Given the description of an element on the screen output the (x, y) to click on. 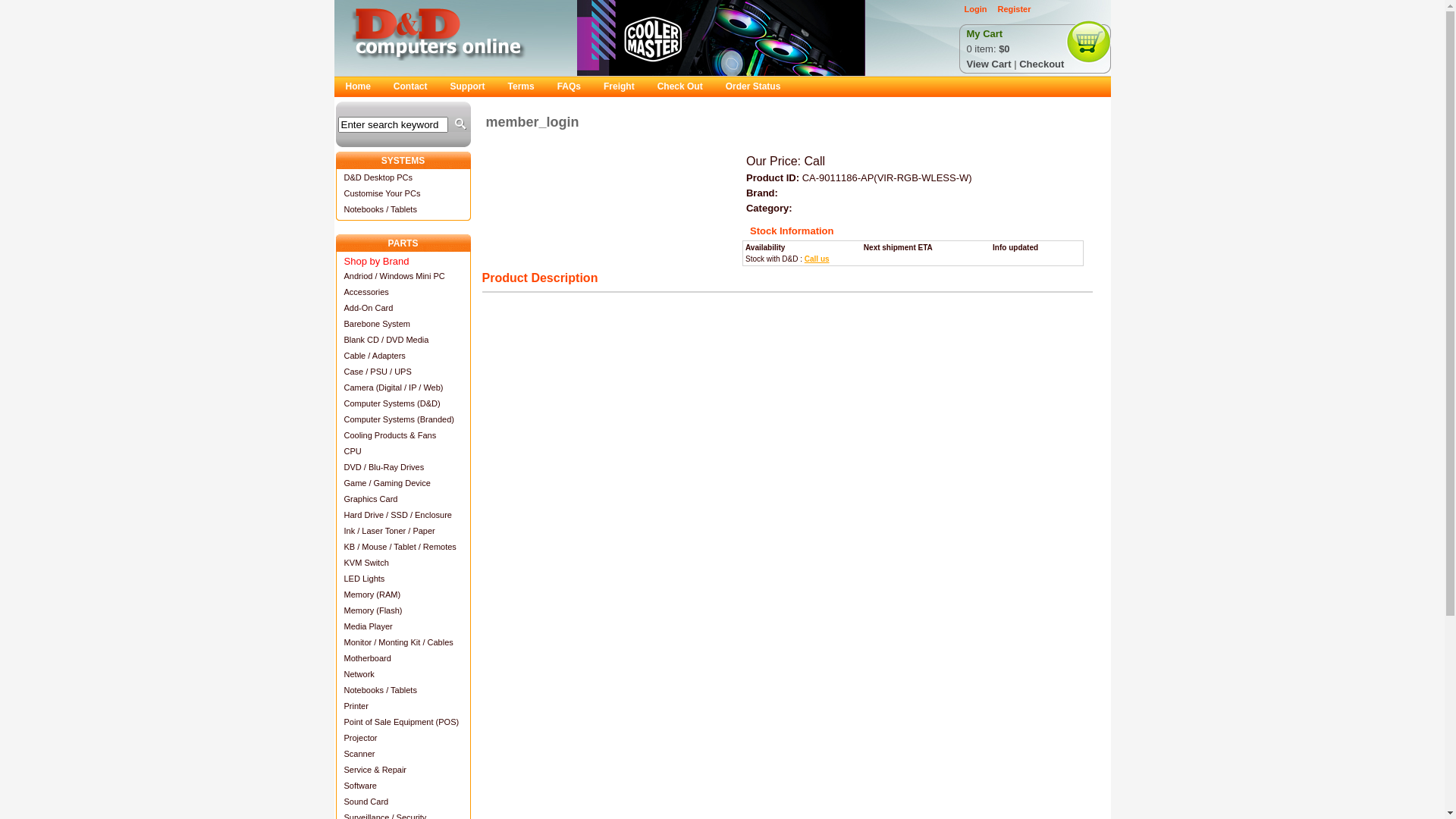
My Cart Element type: text (984, 33)
Customise Your PCs Element type: text (402, 192)
Case / PSU / UPS Element type: text (402, 371)
DVD / Blu-Ray Drives Element type: text (402, 466)
Terms Element type: text (521, 86)
LED Lights Element type: text (402, 578)
KVM Switch Element type: text (402, 562)
Call us Element type: text (816, 258)
Sound Card Element type: text (402, 801)
Barebone System Element type: text (402, 323)
Shop by Brand Element type: text (402, 259)
Checkout Element type: text (1041, 64)
Ink / Laser Toner / Paper Element type: text (402, 530)
FAQs Element type: text (569, 86)
Projector Element type: text (402, 737)
Camera (Digital / IP / Web) Element type: text (402, 387)
Freight Element type: text (619, 86)
Computer Systems (Branded) Element type: text (402, 418)
Printer Element type: text (402, 705)
Network Element type: text (402, 673)
Support Element type: text (467, 86)
Accessories Element type: text (402, 291)
D&D Desktop PCs Element type: text (402, 177)
Motherboard Element type: text (402, 657)
Point of Sale Equipment (POS) Element type: text (402, 721)
Memory (Flash) Element type: text (402, 610)
Media Player Element type: text (402, 625)
Graphics Card Element type: text (402, 498)
Hard Drive / SSD / Enclosure Element type: text (402, 514)
Monitor / Monting Kit / Cables Element type: text (402, 641)
Notebooks / Tablets Element type: text (402, 689)
Cooling Products & Fans Element type: text (402, 434)
Order Status Element type: text (753, 86)
KB / Mouse / Tablet / Remotes Element type: text (402, 546)
Andriod / Windows Mini PC Element type: text (402, 275)
Home Element type: text (357, 86)
Cable / Adapters Element type: text (402, 355)
Check Out Element type: text (680, 86)
Contact Element type: text (410, 86)
Memory (RAM) Element type: text (402, 594)
Add-On Card Element type: text (402, 307)
Computer Systems (D&D) Element type: text (402, 403)
Notebooks / Tablets Element type: text (402, 208)
Blank CD / DVD Media Element type: text (402, 339)
Software Element type: text (402, 785)
Scanner Element type: text (402, 753)
CPU Element type: text (402, 450)
Game / Gaming Device Element type: text (402, 482)
Service & Repair Element type: text (402, 769)
View Cart | Element type: text (992, 64)
